Given the description of an element on the screen output the (x, y) to click on. 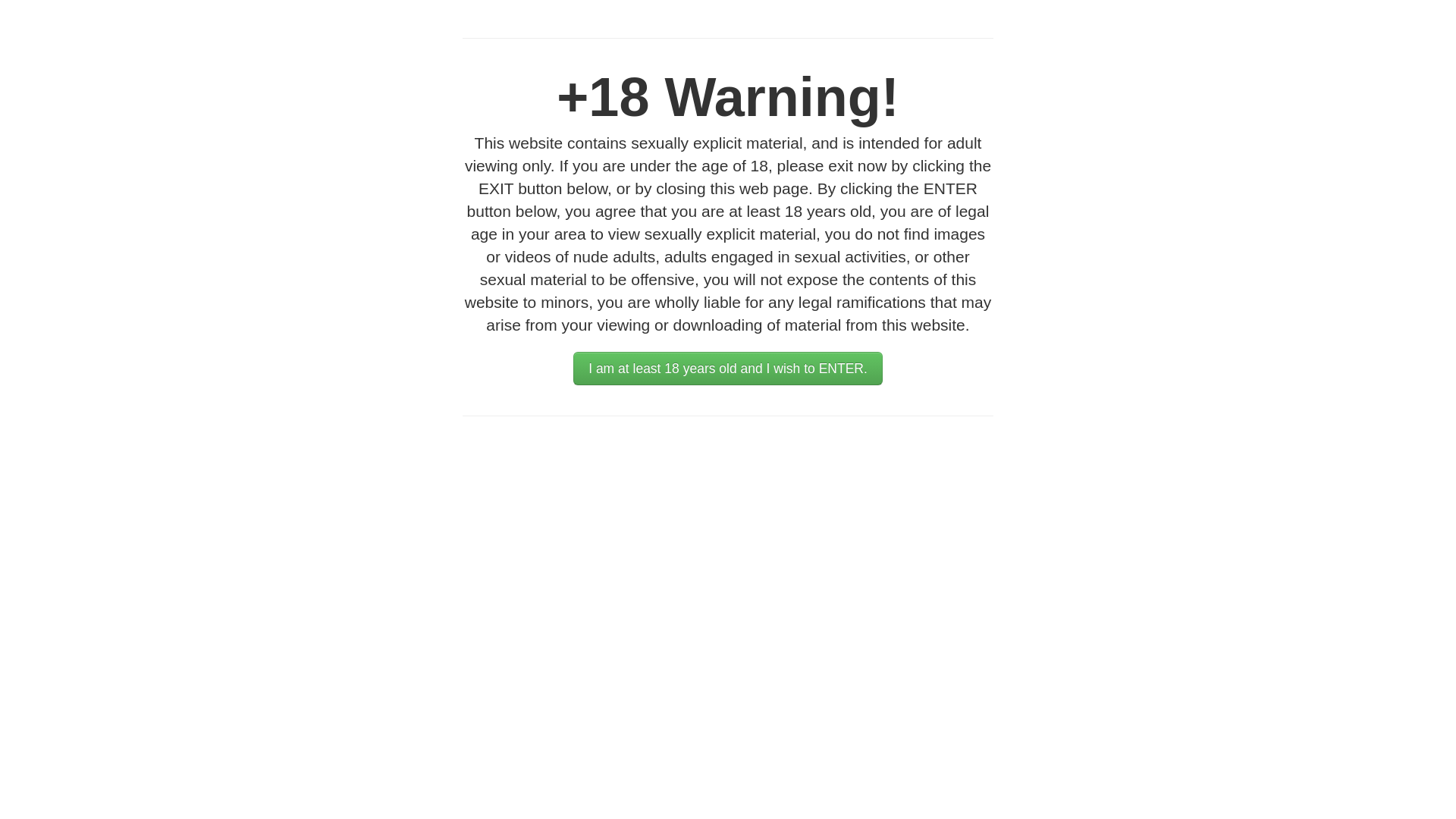
I am at least 18 years old and I wish to ENTER. Element type: text (727, 368)
